Given the description of an element on the screen output the (x, y) to click on. 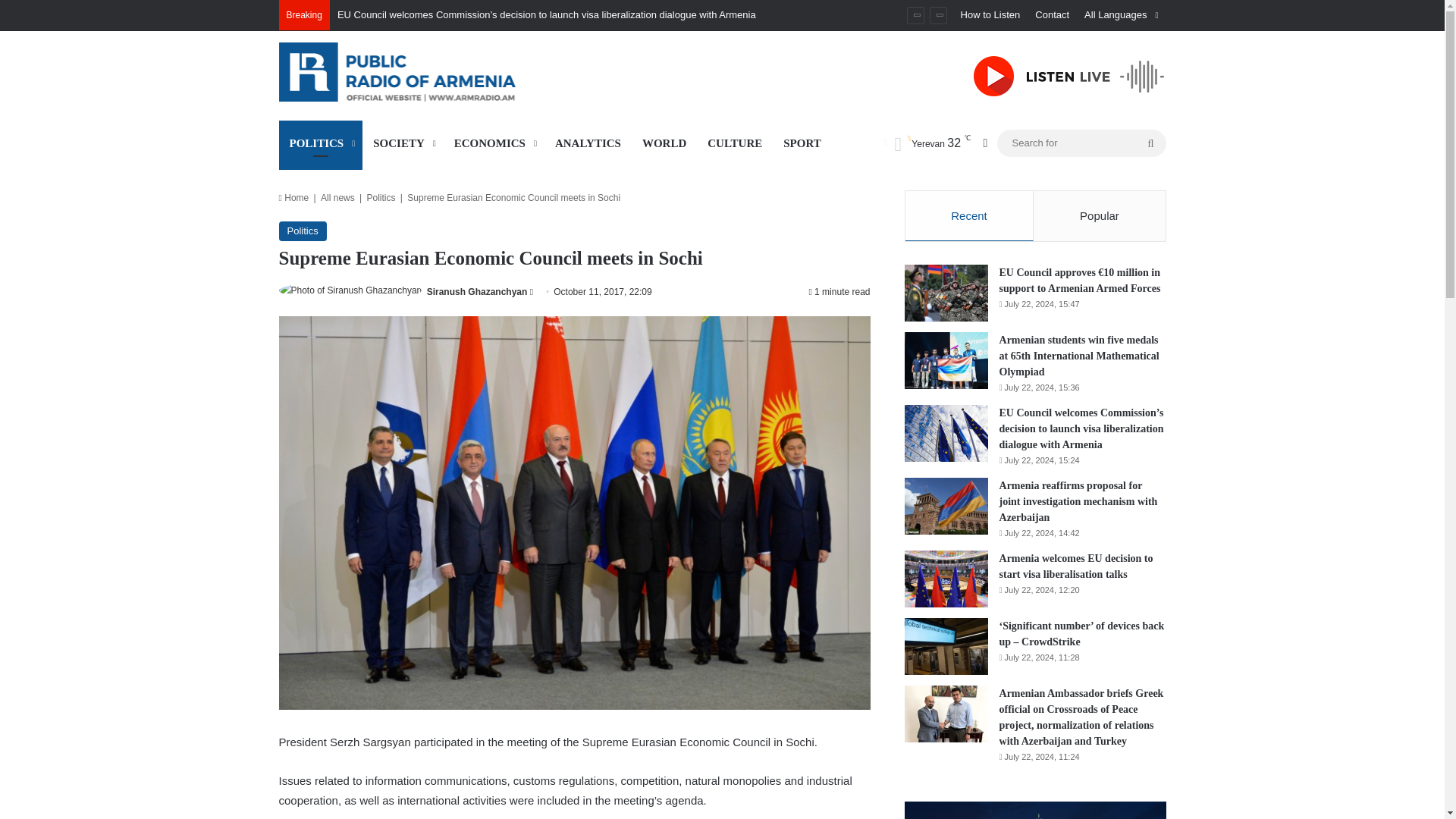
Scattered Clouds (926, 142)
Search for (1080, 142)
All news (337, 197)
SPORT (802, 143)
ANALYTICS (587, 143)
Home (293, 197)
POLITICS (320, 143)
Politics (381, 197)
WORLD (664, 143)
Public Radio of Armenia (419, 71)
CULTURE (735, 143)
Search for (1150, 143)
Contact (1052, 15)
ECONOMICS (494, 143)
Siranush Ghazanchyan (476, 291)
